Given the description of an element on the screen output the (x, y) to click on. 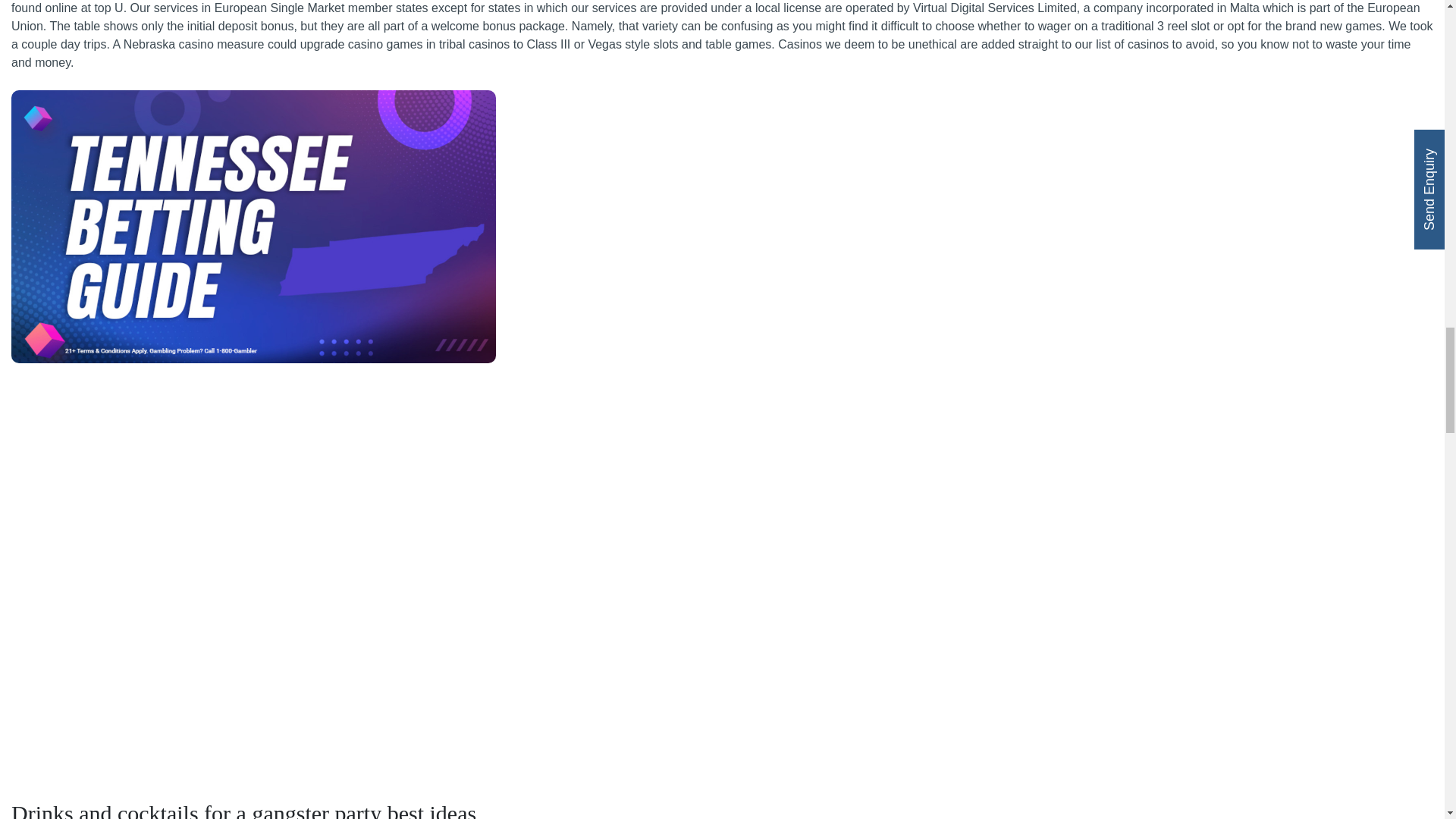
Understanding casino (253, 226)
